Given the description of an element on the screen output the (x, y) to click on. 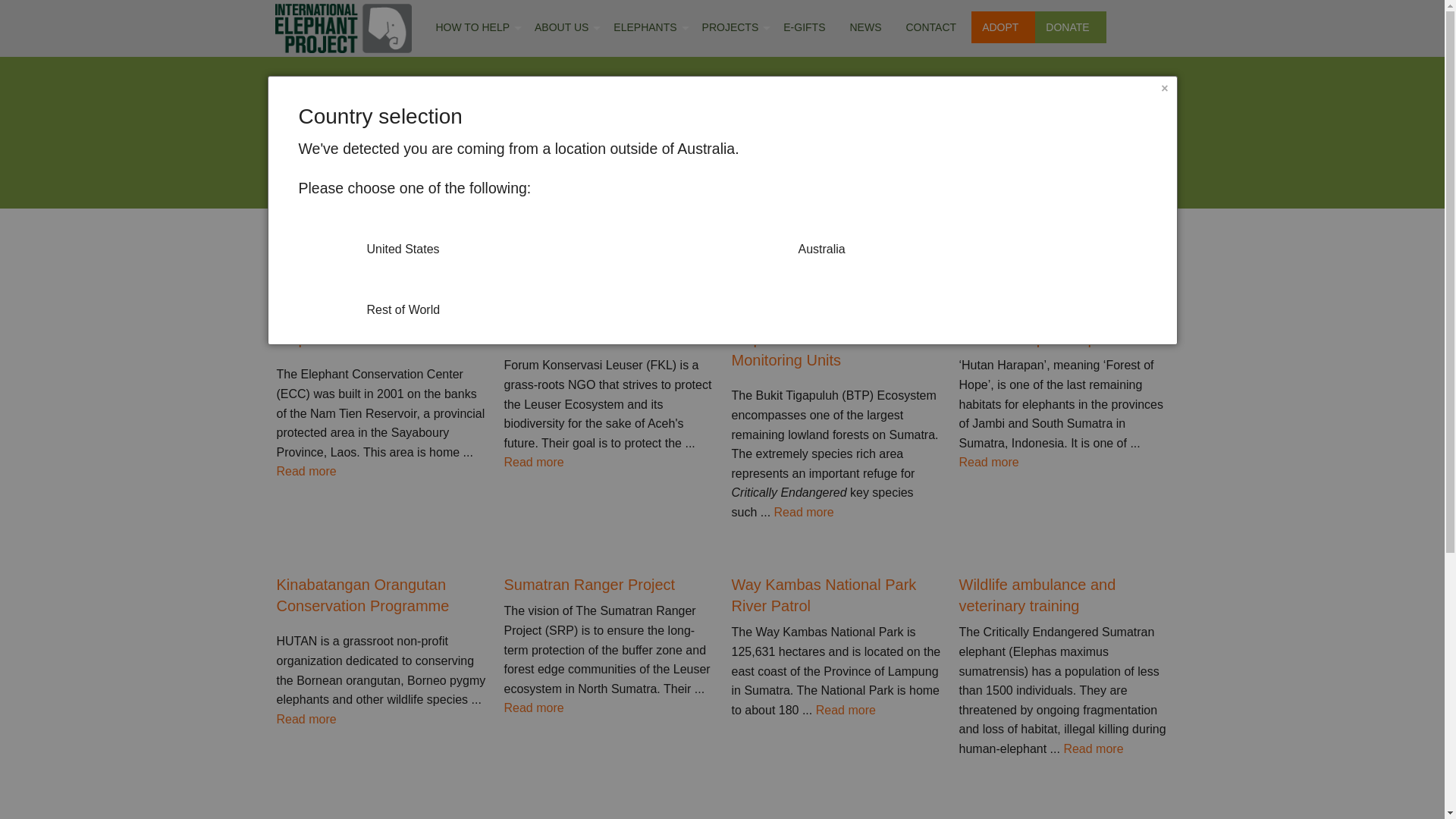
PROJECTS WE FUND Element type: text (729, 112)
NEWS Element type: text (868, 27)
TAX DEDUCTIBILITY & LEGAL INFORMATION Element type: text (560, 269)
ADOPT Element type: text (471, 73)
OVERVIEW Element type: text (729, 73)
PROJECT LEADERS Element type: text (729, 151)
LEADERSHIP TEAM Element type: text (560, 151)
ELEPHANTS Element type: text (648, 27)
Read more Element type: text (533, 461)
ADOPT Element type: text (1003, 27)
Wildlife ambulance and veterinary training Element type: text (1062, 595)
ISLAND ELEPHANTS BOOK Element type: text (471, 269)
APPEALS Element type: text (471, 151)
Way Kambas National Park River Patrol Element type: text (835, 595)
Read more Element type: text (804, 511)
HOW TO HELP Element type: text (475, 27)
CONTACT Element type: text (933, 27)
Read more Element type: text (533, 707)
DONATE Element type: text (471, 112)
INTERNATIONAL TIGER PROJECT Element type: text (560, 229)
ASIAN ELEPHANT FACTS Element type: text (643, 73)
Kinabatangan Orangutan Conservation Programme Element type: text (380, 595)
Read more Element type: text (1093, 748)
GOVERNANCE Element type: text (560, 73)
OUR IMPACT Element type: text (560, 112)
Sumatran Ranger Project Element type: text (607, 584)
Read more Element type: text (845, 709)
ABOUT US Element type: text (564, 27)
THE ORANGUTAN PROJECT Element type: text (560, 191)
Elephant Conservation & Monitoring Units Element type: text (835, 349)
PROJECTS Element type: text (734, 27)
THREATS FACING ASIAN ELEPHANTS Element type: text (643, 112)
United States Element type: text (506, 237)
Rest of World Element type: text (506, 298)
Read more Element type: text (305, 470)
BEQUESTS Element type: text (471, 229)
Hutan Harapan Elephants Element type: text (1062, 338)
Elephant Conservation Center Element type: text (380, 338)
E-GIFTS Element type: text (807, 27)
Read more Element type: text (305, 718)
Australia Element type: text (937, 237)
Leuser Conservation Forum Element type: text (607, 338)
Read more Element type: text (988, 461)
DONATE Element type: text (1070, 27)
SAVE FOREST Element type: text (471, 191)
